Given the description of an element on the screen output the (x, y) to click on. 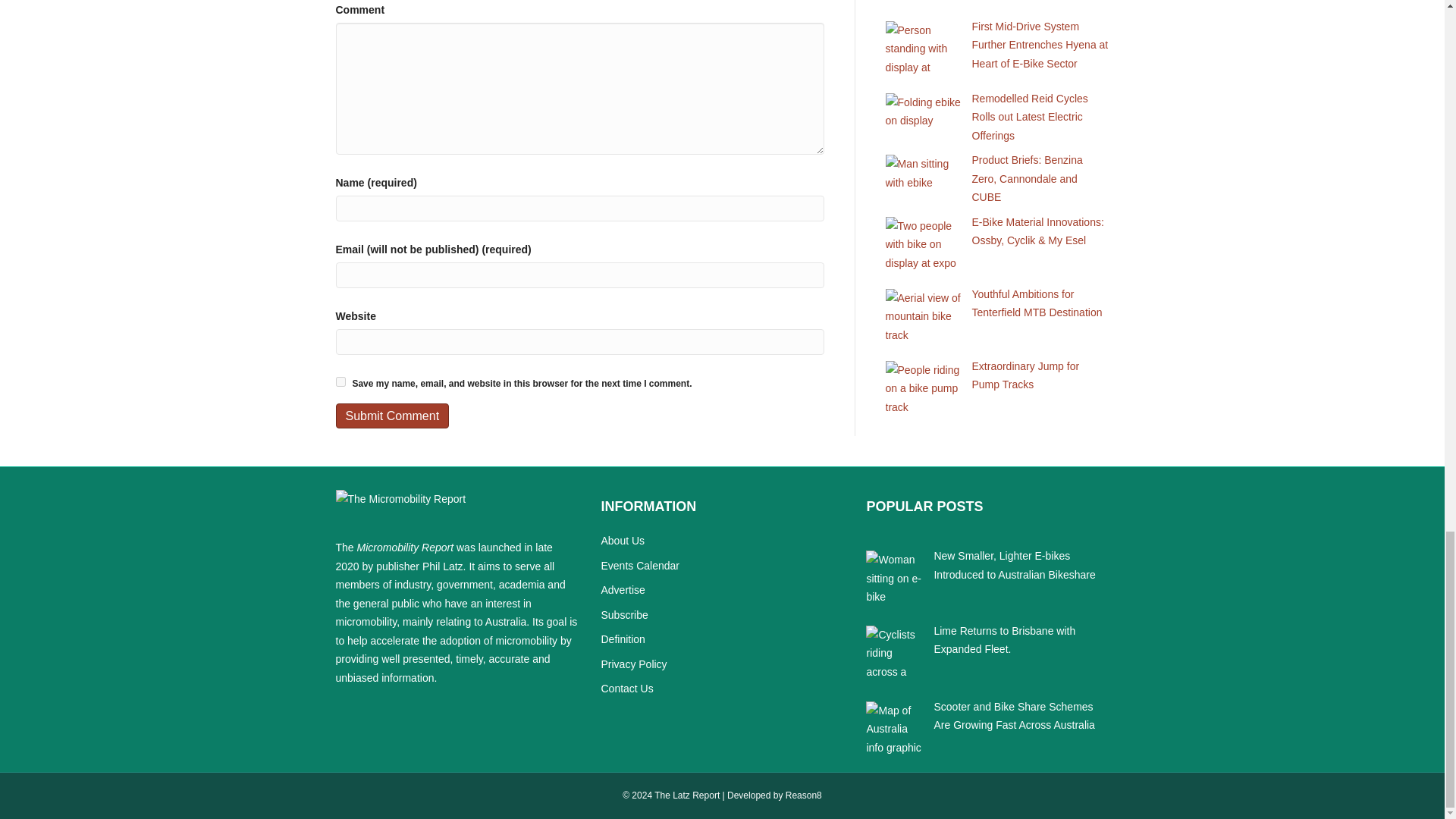
Micromobility Definition (622, 639)
Submit Comment (391, 415)
yes (339, 381)
